Given the description of an element on the screen output the (x, y) to click on. 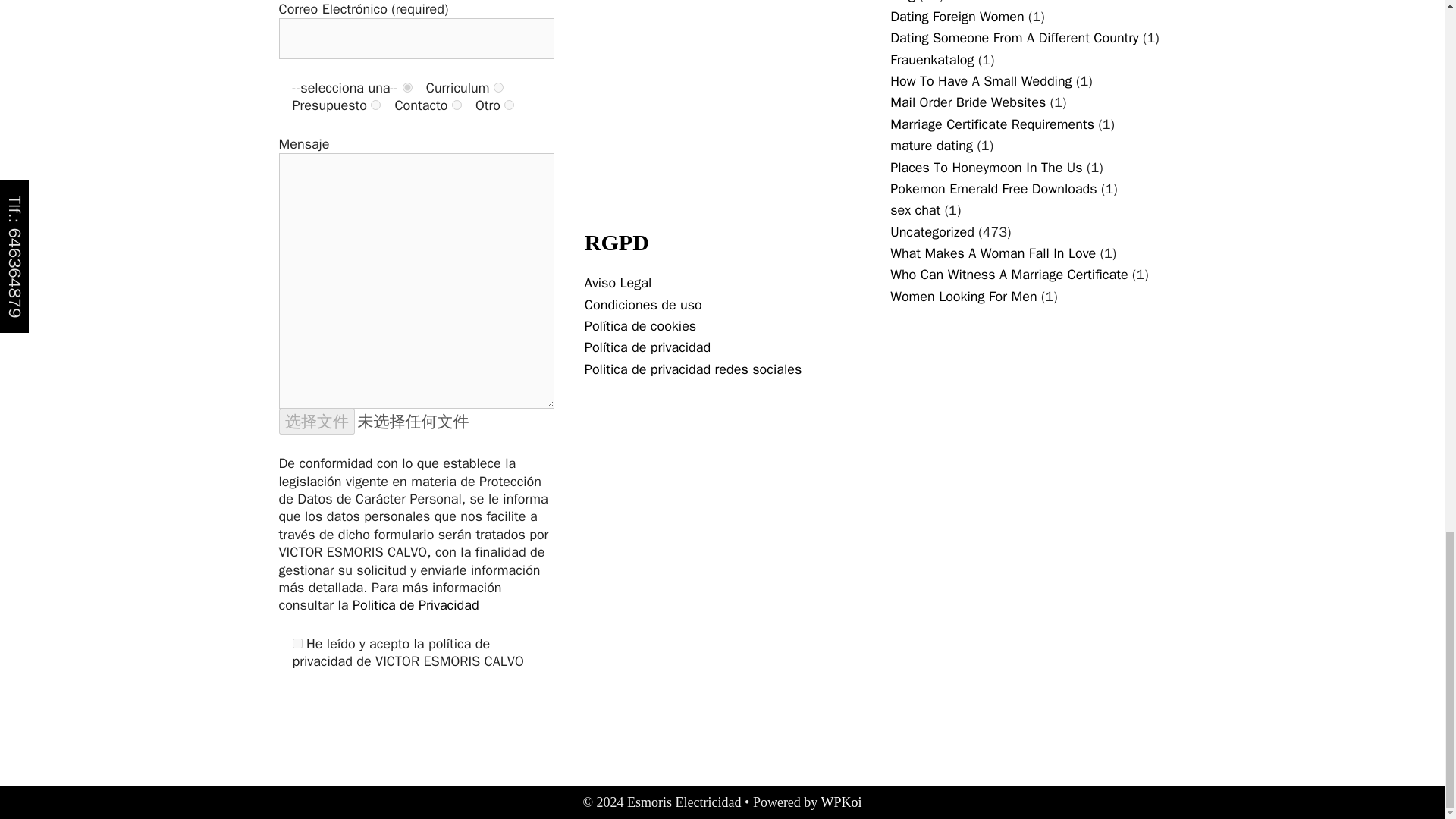
mature dating (930, 145)
--selecciona una-- (407, 87)
Frauenkatalog (931, 59)
Presupuesto (375, 104)
Marriage Certificate Requirements (991, 124)
Enviar (315, 709)
Dating Foreign Women (957, 16)
Aviso Legal (617, 282)
Politica de Privacidad (415, 605)
Mail Order Bride Websites (967, 102)
